Given the description of an element on the screen output the (x, y) to click on. 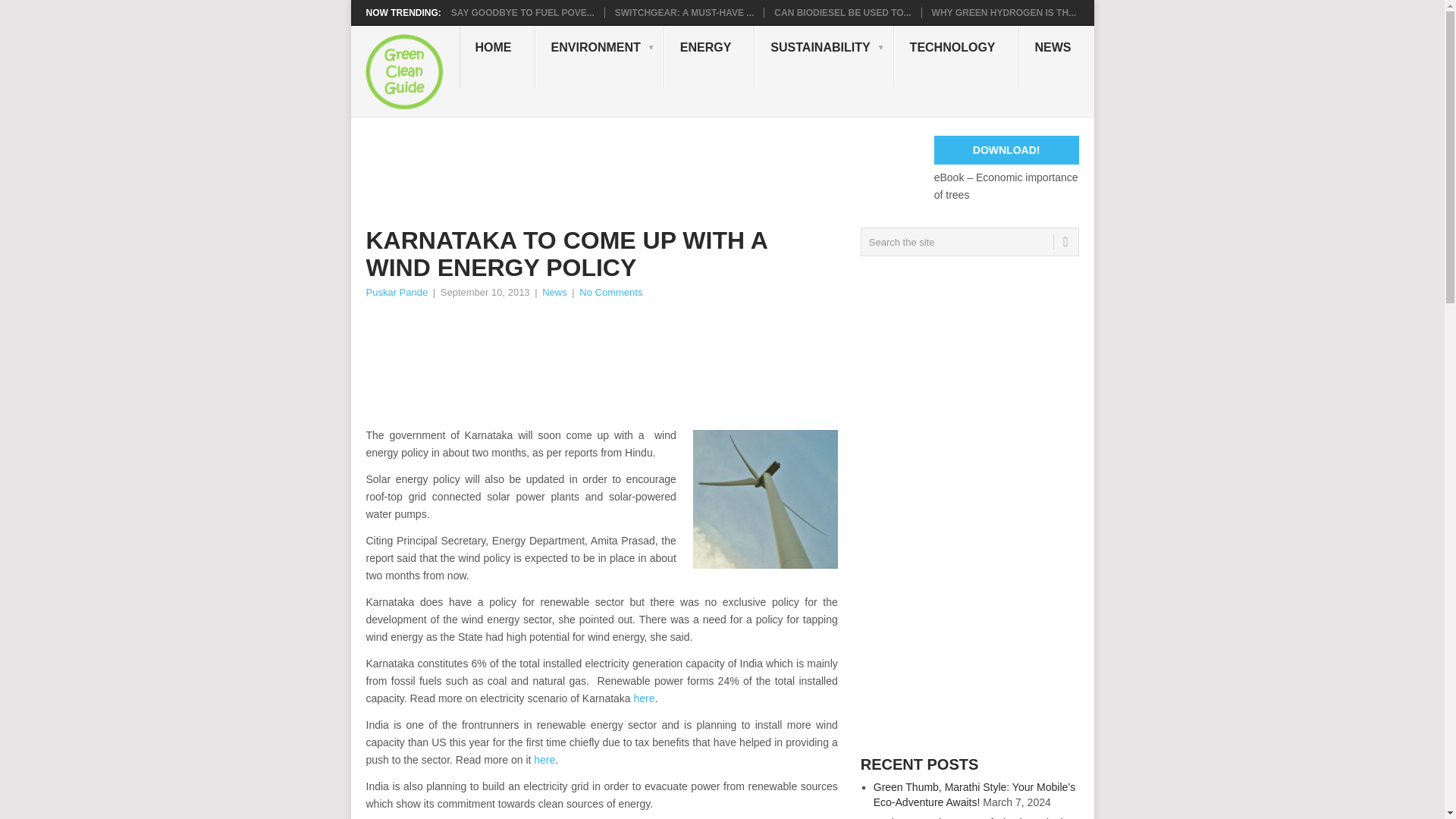
Why Green Hydrogen Is The Latest Clean Energy Trend (1003, 12)
CAN BIODIESEL BE USED TO... (842, 12)
here (644, 698)
ENERGY (709, 56)
ENVIRONMENT (599, 56)
HOME (497, 56)
SWITCHGEAR: A MUST-HAVE ... (684, 12)
Advertisement (641, 169)
NEWS (1056, 56)
